Given the description of an element on the screen output the (x, y) to click on. 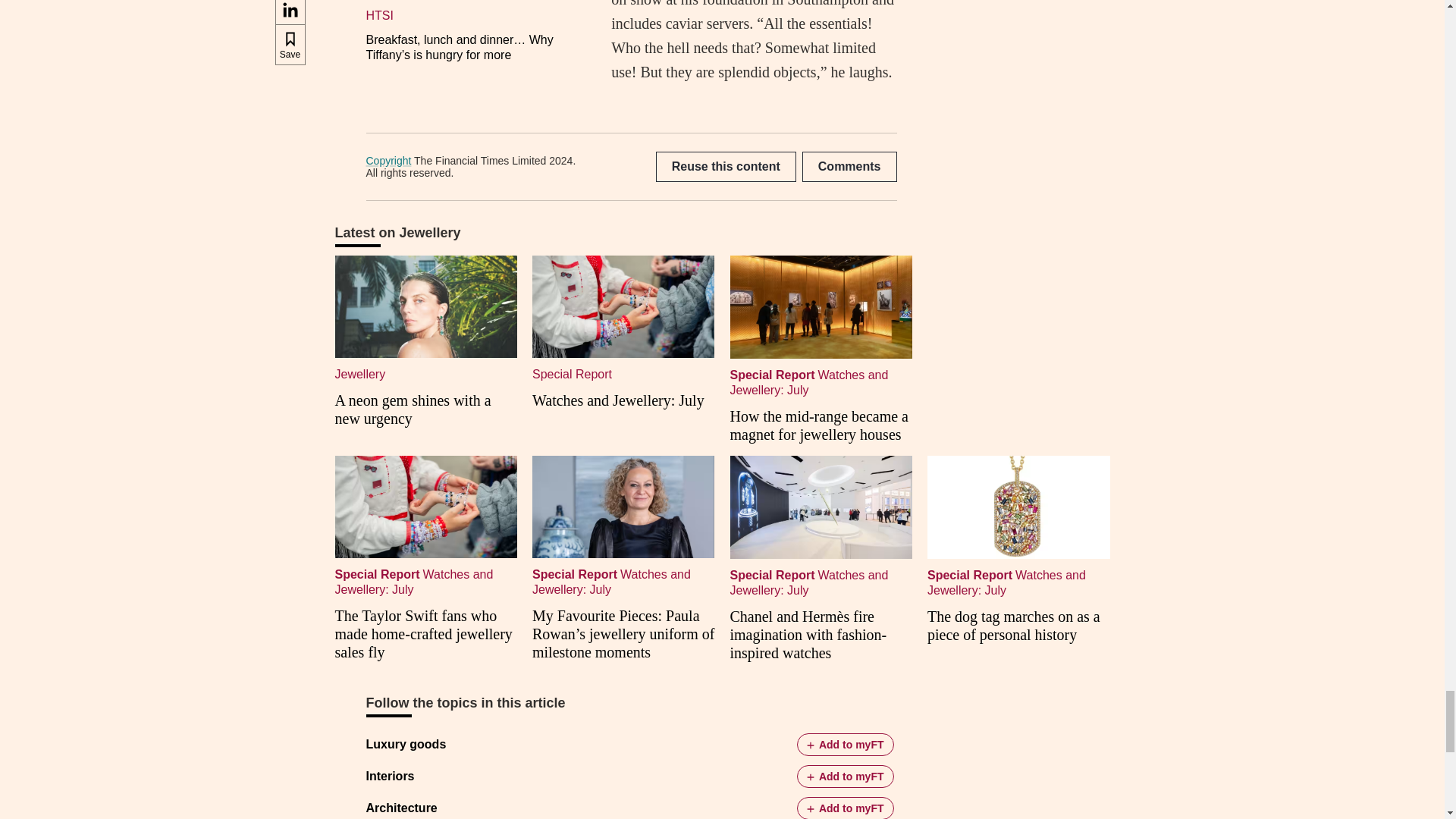
Jump to comments section (849, 166)
Add Luxury goods to myFT (844, 744)
Add Interiors to myFT (844, 775)
Add Architecture to myFT (844, 807)
